Given the description of an element on the screen output the (x, y) to click on. 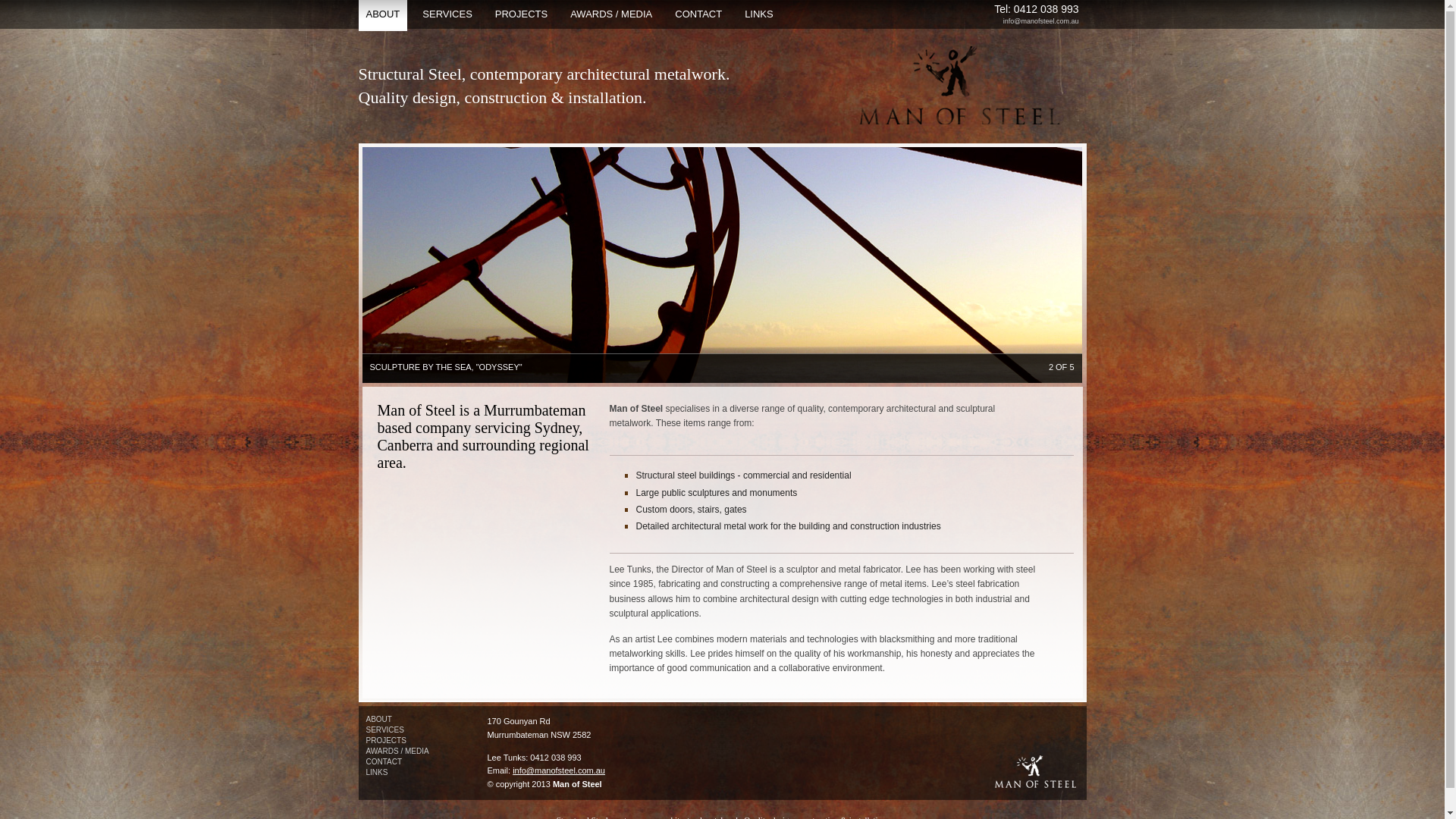
LINKS Element type: text (376, 772)
info@manofsteel.com.au Element type: text (1041, 21)
ABOUT Element type: text (382, 15)
CONTACT Element type: text (698, 15)
AWARDS / MEDIA Element type: text (396, 750)
Man of Steel Element type: text (956, 84)
CONTACT Element type: text (383, 761)
PROJECTS Element type: text (521, 15)
info@manofsteel.com.au Element type: text (558, 770)
LINKS Element type: text (759, 15)
PROJECTS Element type: text (385, 740)
SERVICES Element type: text (447, 15)
ABOUT Element type: text (378, 719)
AWARDS / MEDIA Element type: text (610, 15)
SERVICES Element type: text (384, 729)
